Given the description of an element on the screen output the (x, y) to click on. 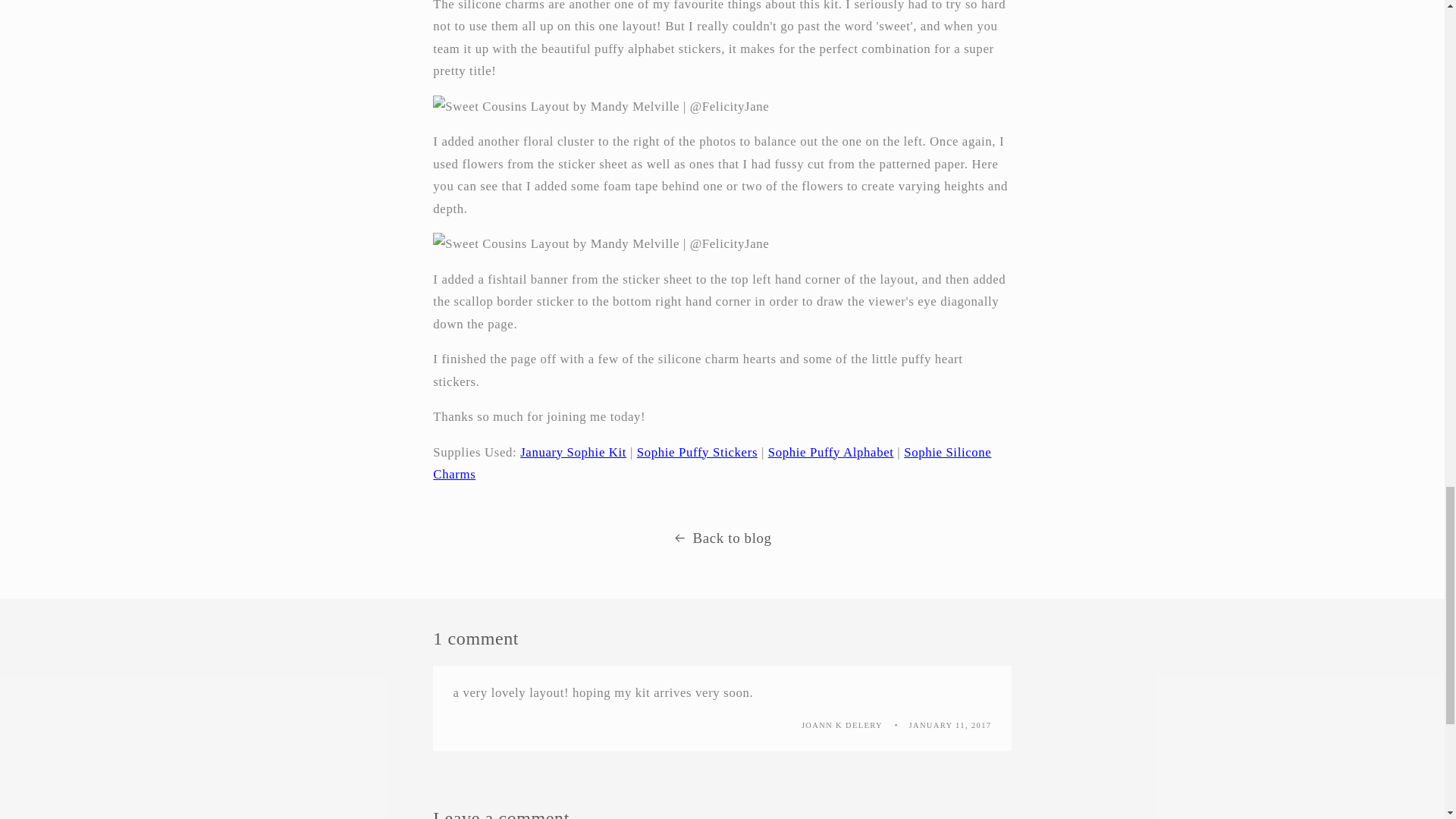
January Sophie Kit (572, 452)
Sophie Puffy Alphabet (830, 452)
Sophie Puffy Stickers (697, 452)
Sophie Silicone Charms (711, 463)
